Given the description of an element on the screen output the (x, y) to click on. 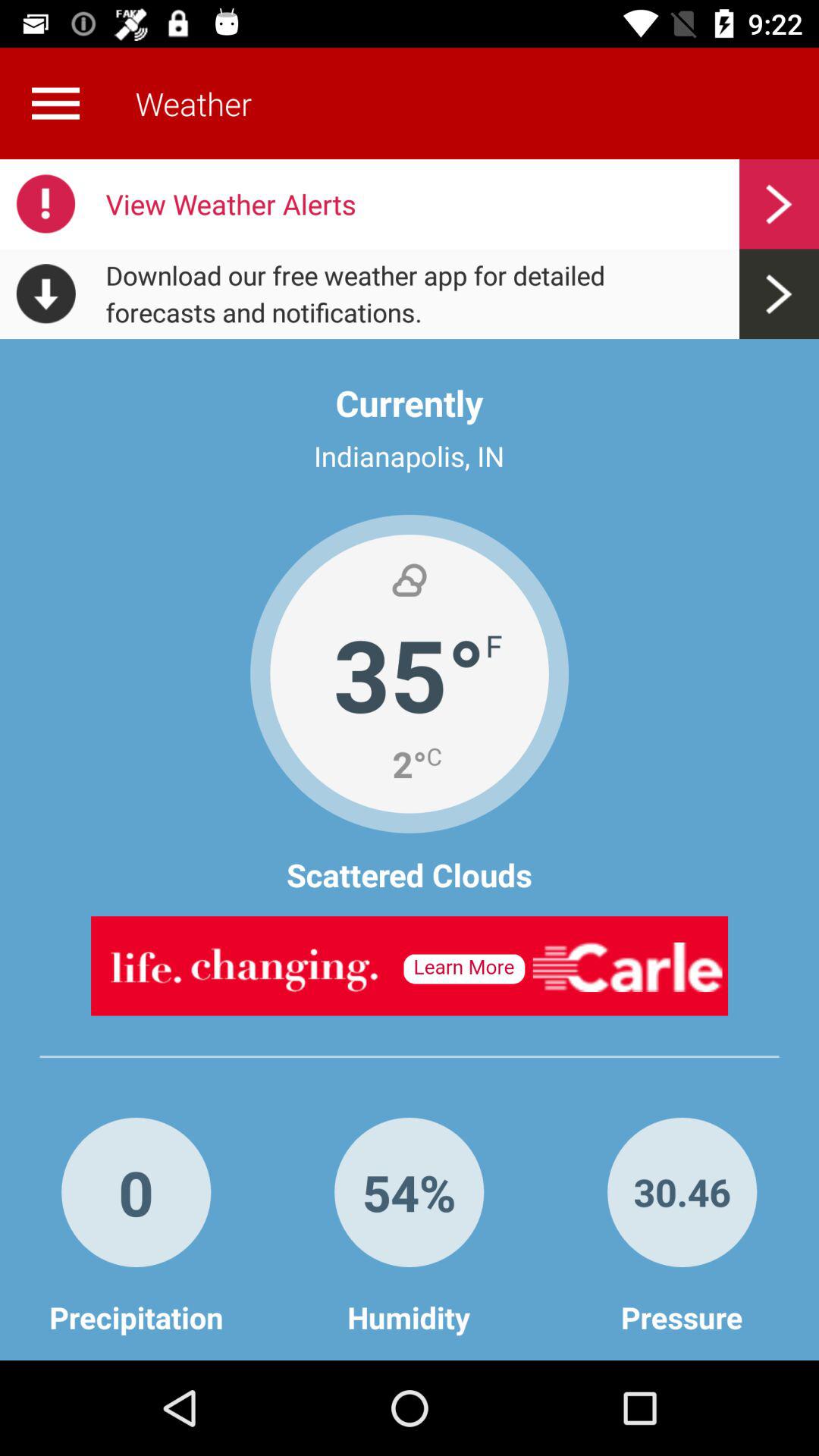
more details (55, 103)
